Given the description of an element on the screen output the (x, y) to click on. 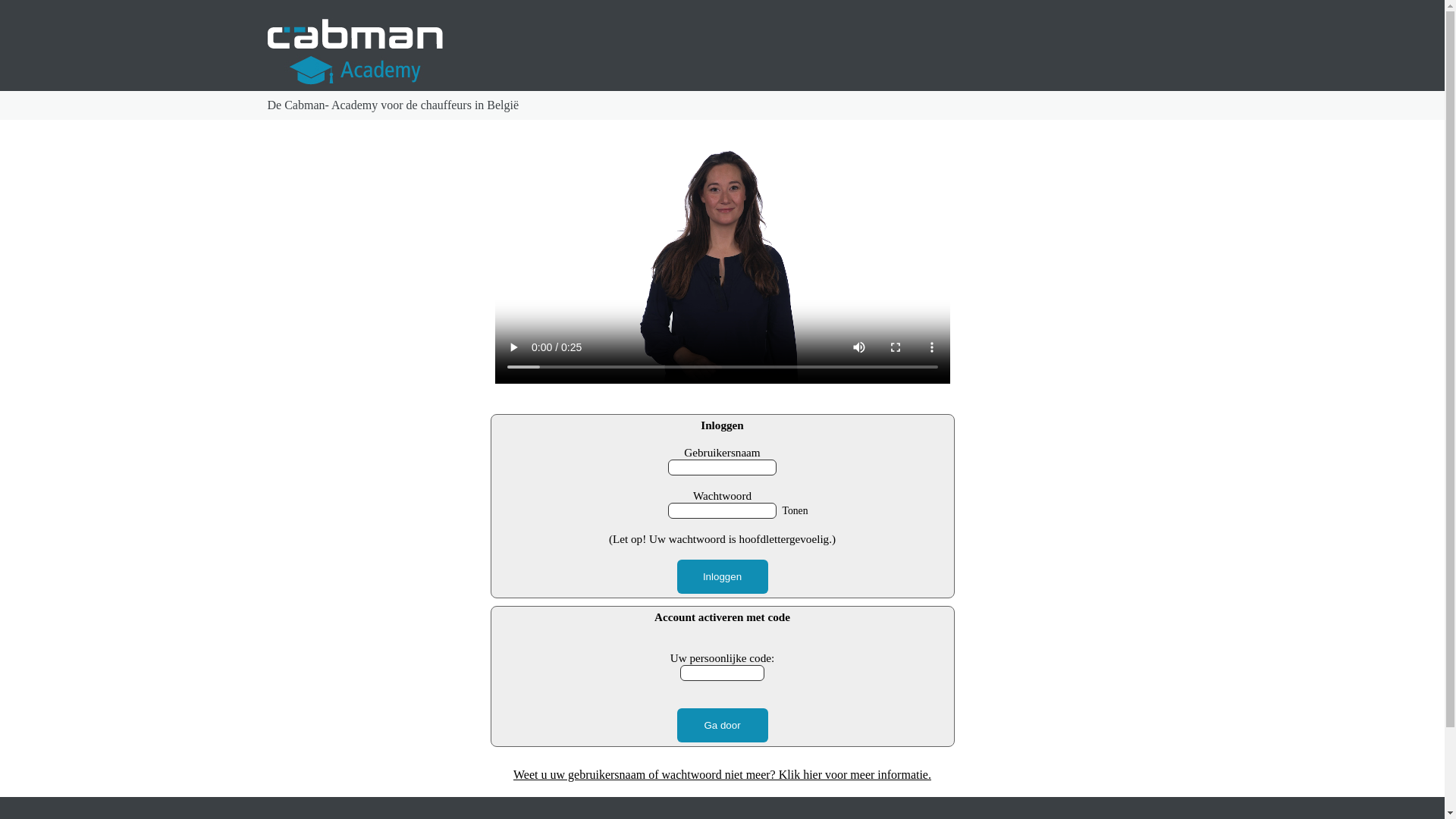
Ga door Element type: text (721, 725)
Inloggen Element type: text (721, 576)
Tonen Element type: text (782, 511)
